Given the description of an element on the screen output the (x, y) to click on. 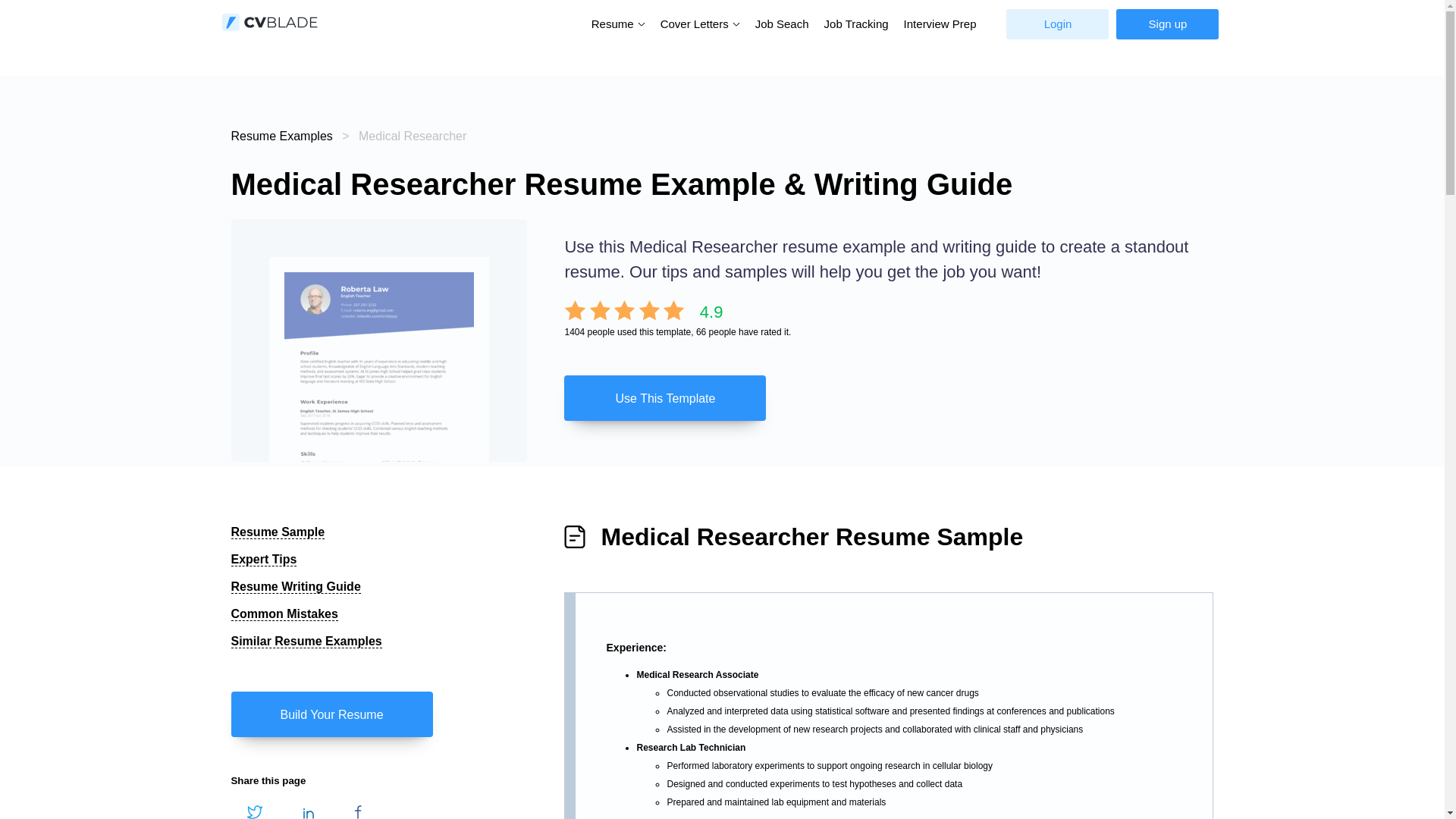
Interview Prep (940, 23)
Resume (614, 23)
Resume Sample (277, 531)
Cover Letters (695, 23)
Login (1057, 24)
Use This Template (664, 397)
Use This Template (888, 397)
Job Tracking (856, 23)
Job Seach (782, 23)
Sign up (1167, 24)
Resume Examples (280, 135)
